Given the description of an element on the screen output the (x, y) to click on. 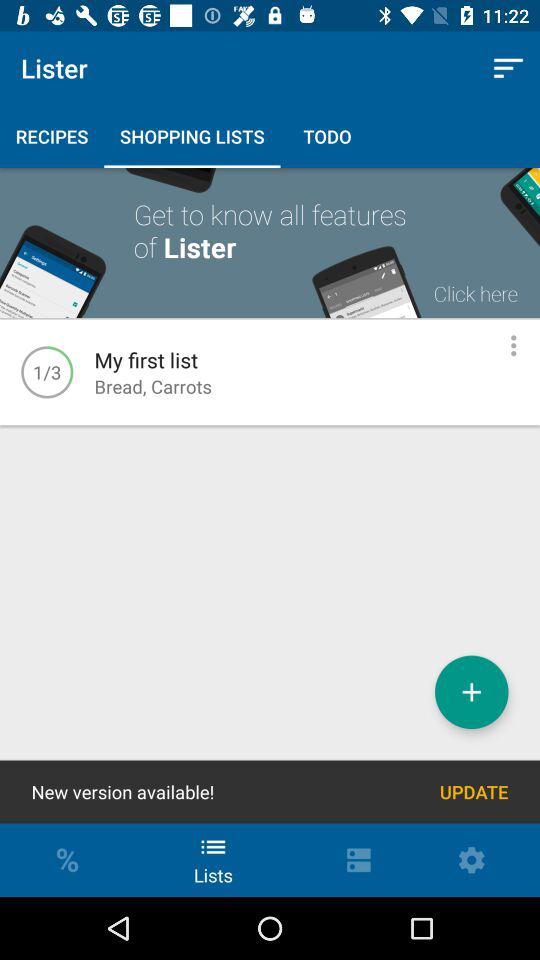
open the item below bread, carrots (471, 691)
